Given the description of an element on the screen output the (x, y) to click on. 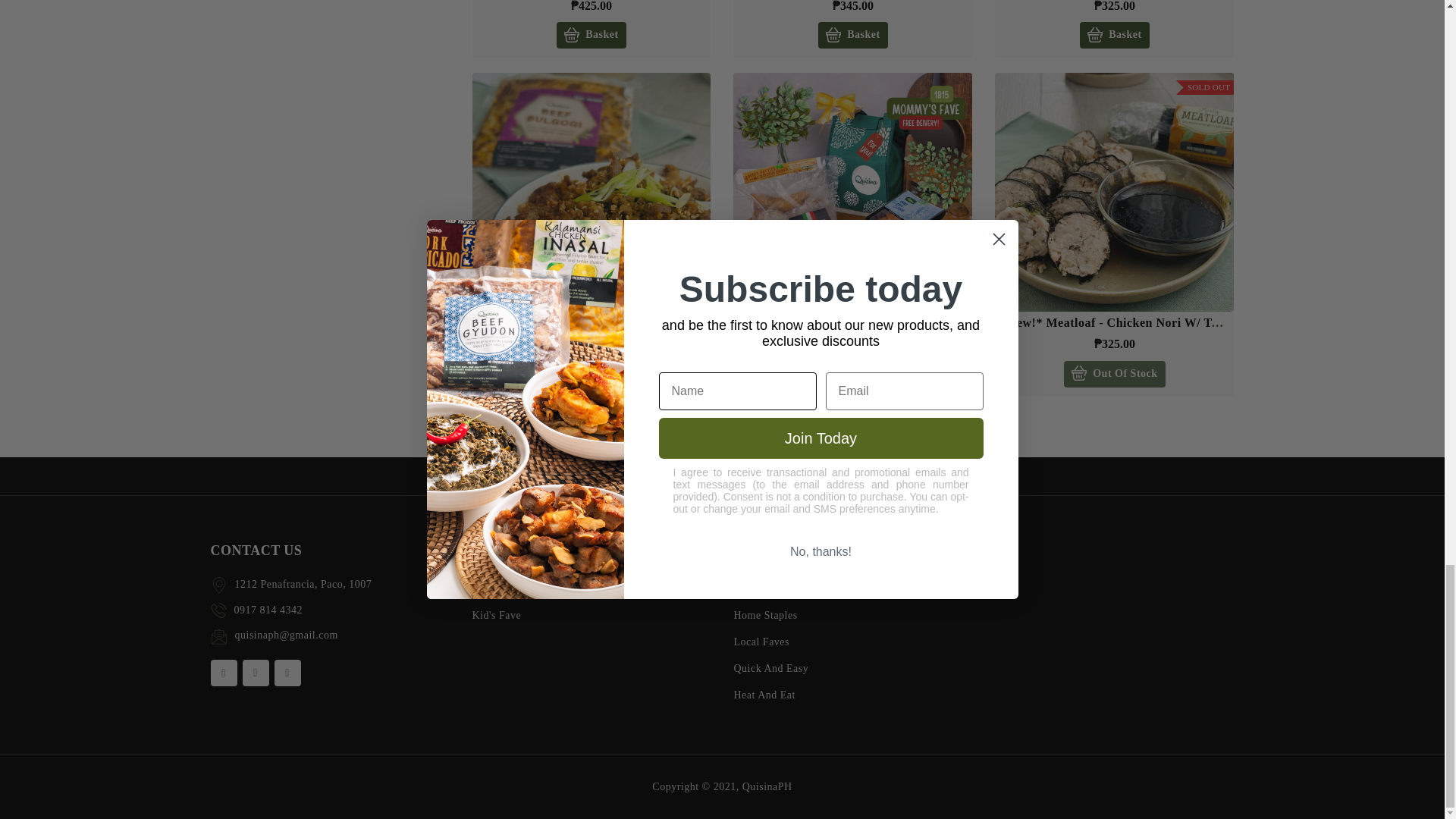
Add to cart (1114, 35)
Add to cart (591, 35)
Add to cart (852, 35)
